Given the description of an element on the screen output the (x, y) to click on. 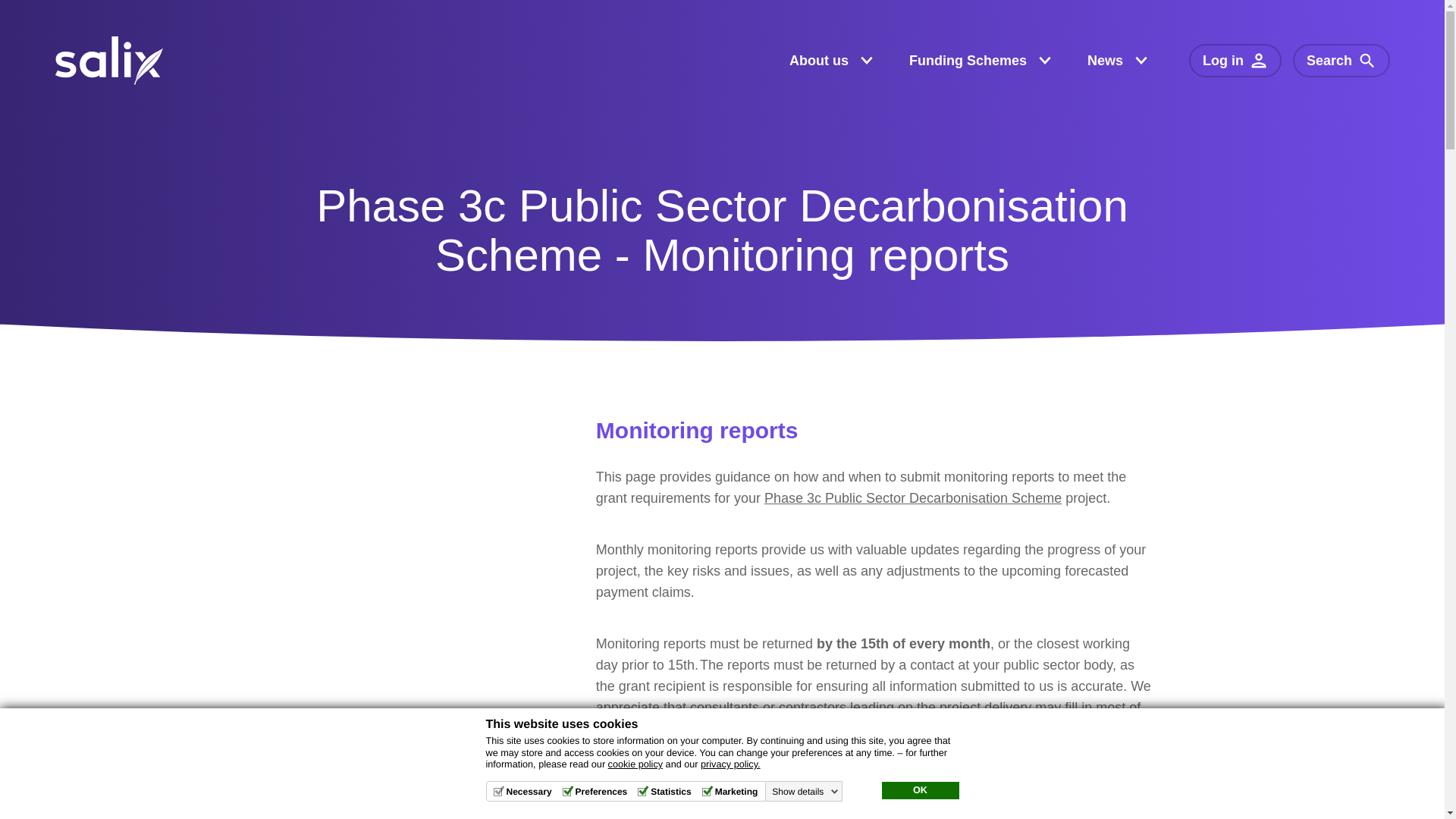
OK (919, 791)
Show details (804, 791)
cookie policy (635, 764)
privacy policy. (730, 764)
